Given the description of an element on the screen output the (x, y) to click on. 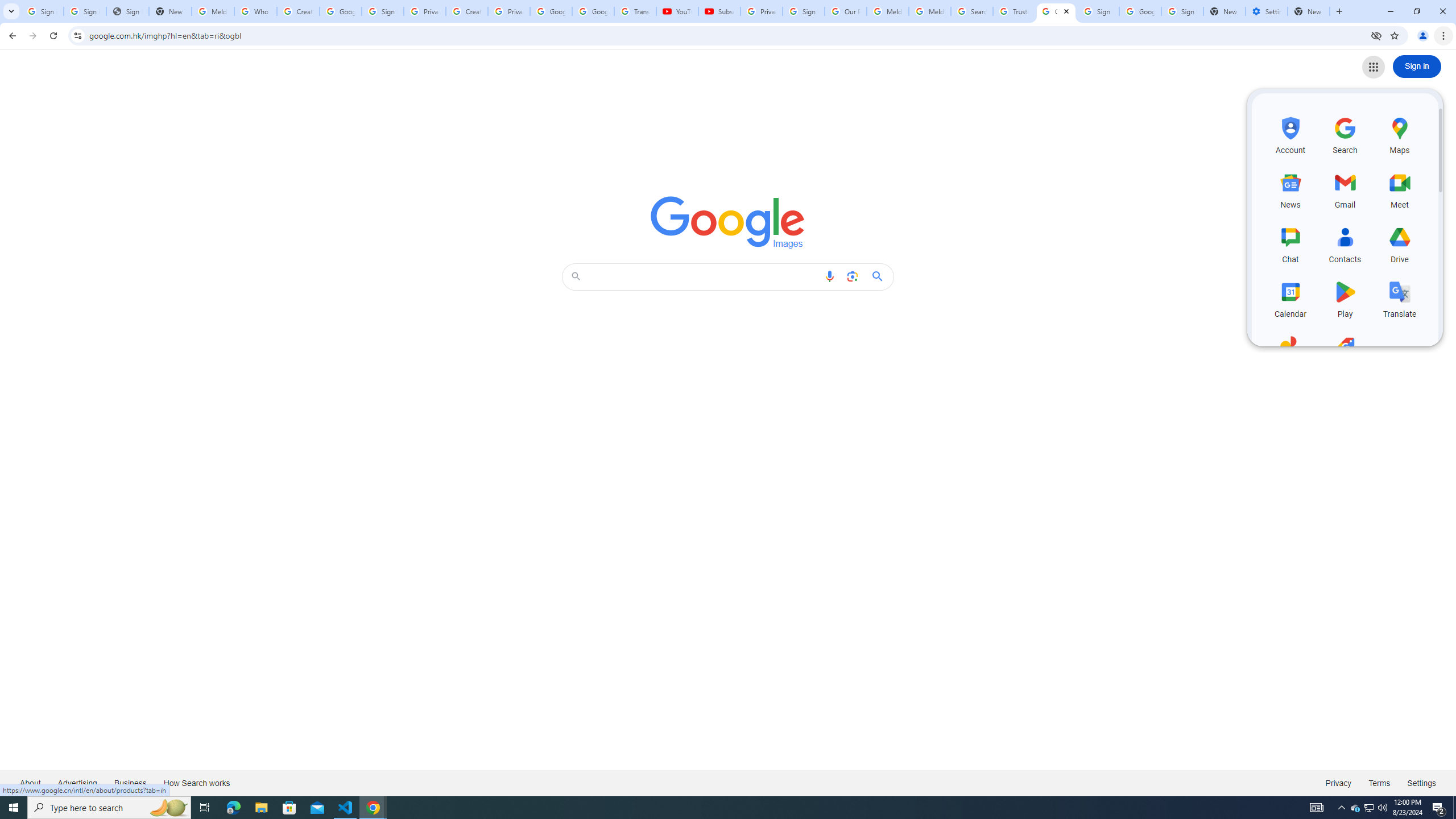
Google Cybersecurity Innovations - Google Safety Center (1139, 11)
Privacy (1337, 782)
Advertising (77, 782)
Account, row 1 of 5 and column 1 of 3 in the first section (1290, 134)
Contacts, row 3 of 5 and column 2 of 3 in the first section (1344, 242)
